Given the description of an element on the screen output the (x, y) to click on. 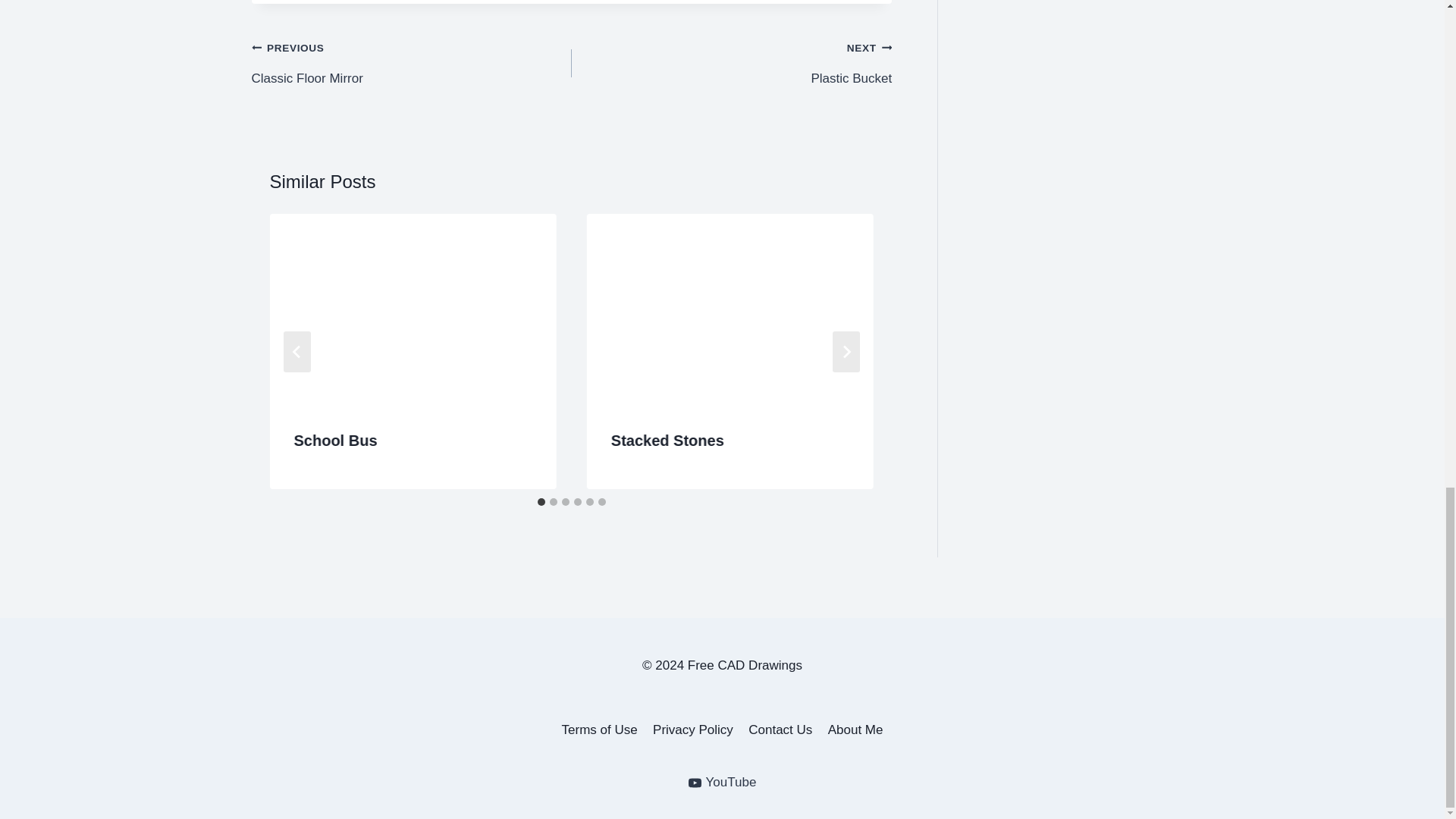
stacked stones (729, 308)
School Bus (335, 440)
Stacked Stones (411, 63)
school bus min scaled (731, 63)
